Given the description of an element on the screen output the (x, y) to click on. 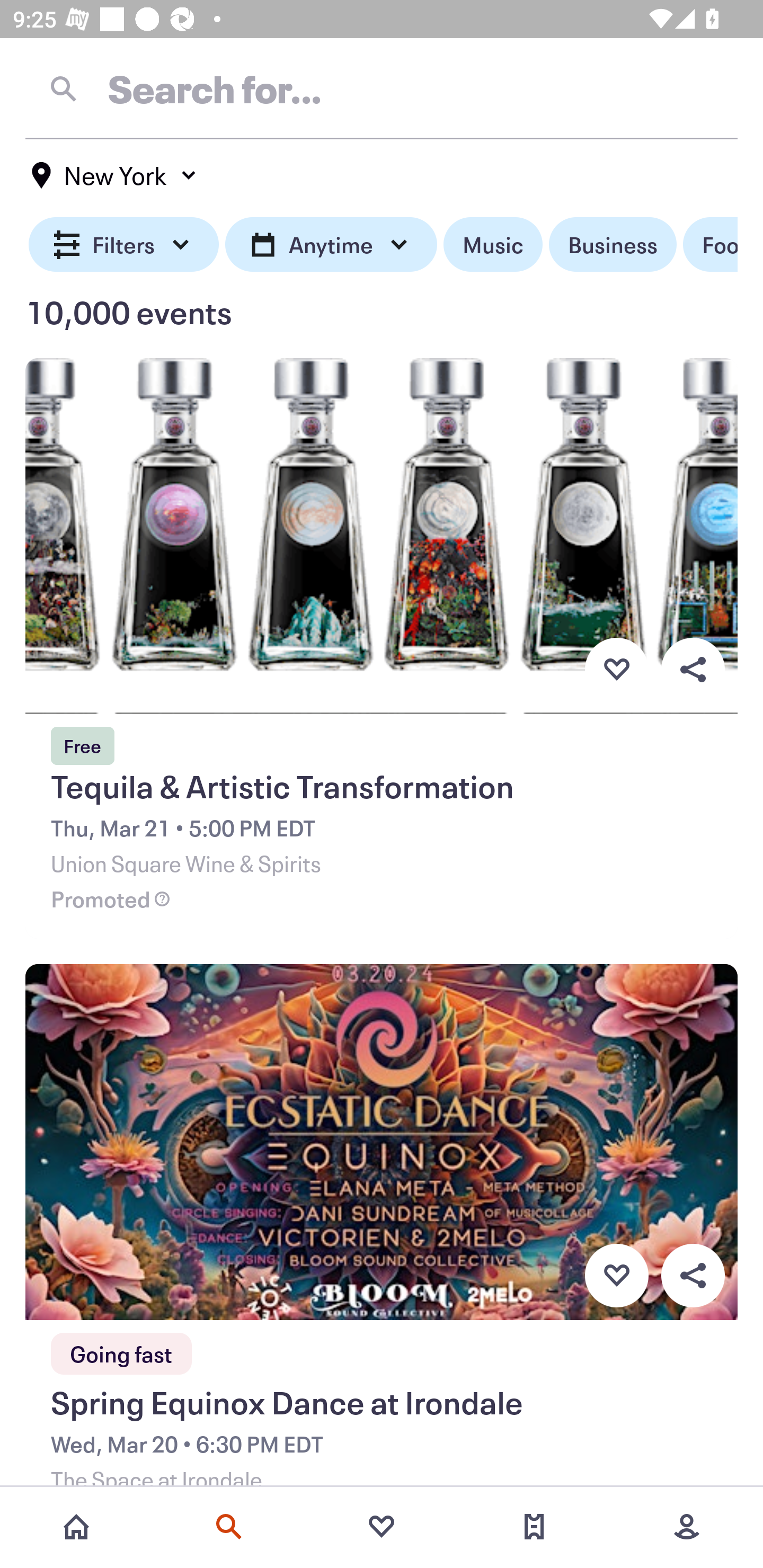
Search for… (381, 88)
New York (114, 175)
Filters (123, 244)
Anytime (331, 244)
Music (492, 244)
Business (612, 244)
Favorite button (616, 669)
Overflow menu button (692, 669)
Promoted event help (161, 898)
Favorite button (616, 1275)
Overflow menu button (692, 1275)
Home (76, 1526)
Search events (228, 1526)
Favorites (381, 1526)
Tickets (533, 1526)
More (686, 1526)
